Given the description of an element on the screen output the (x, y) to click on. 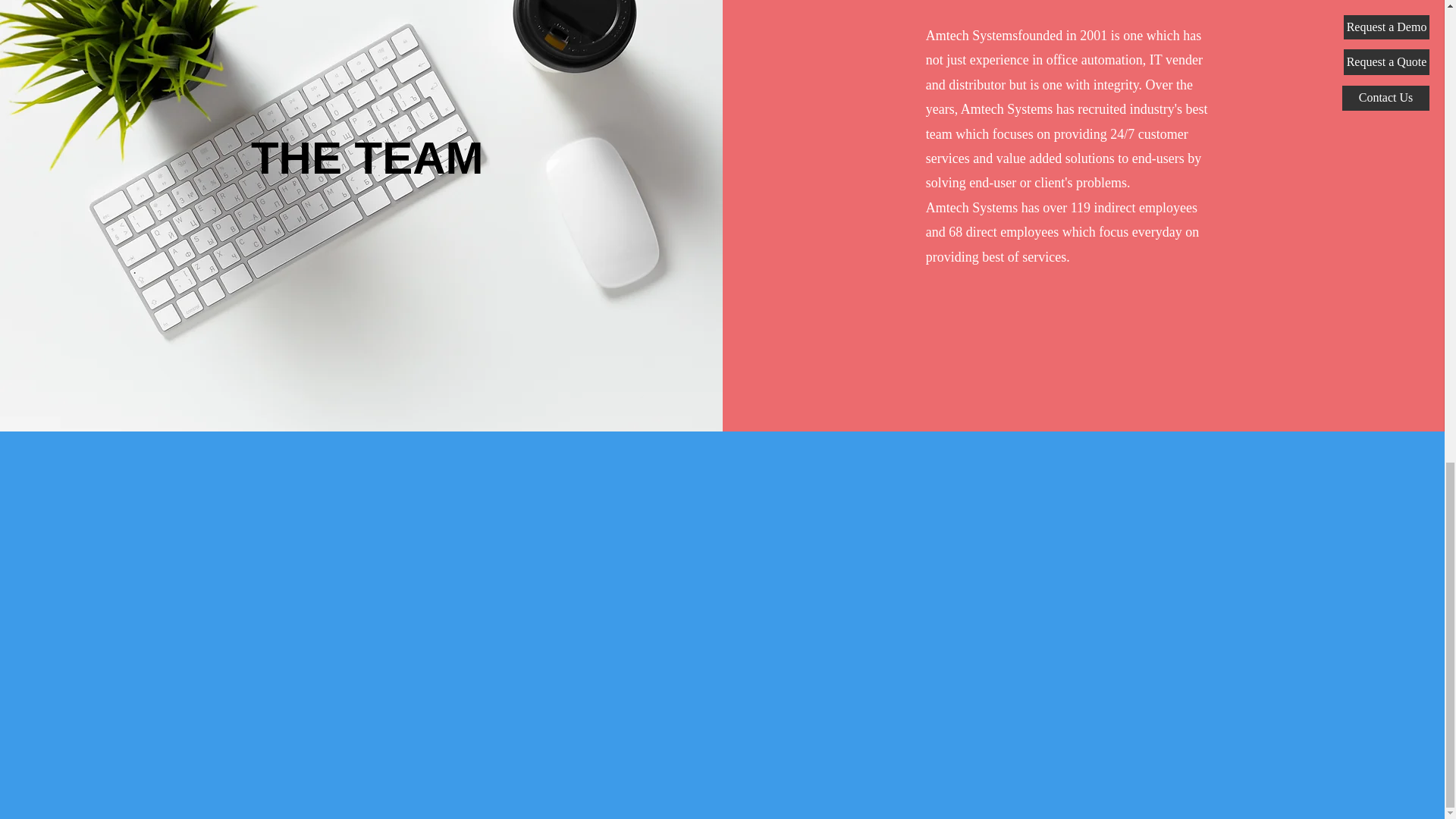
Pinset Tag (197, 46)
